Given the description of an element on the screen output the (x, y) to click on. 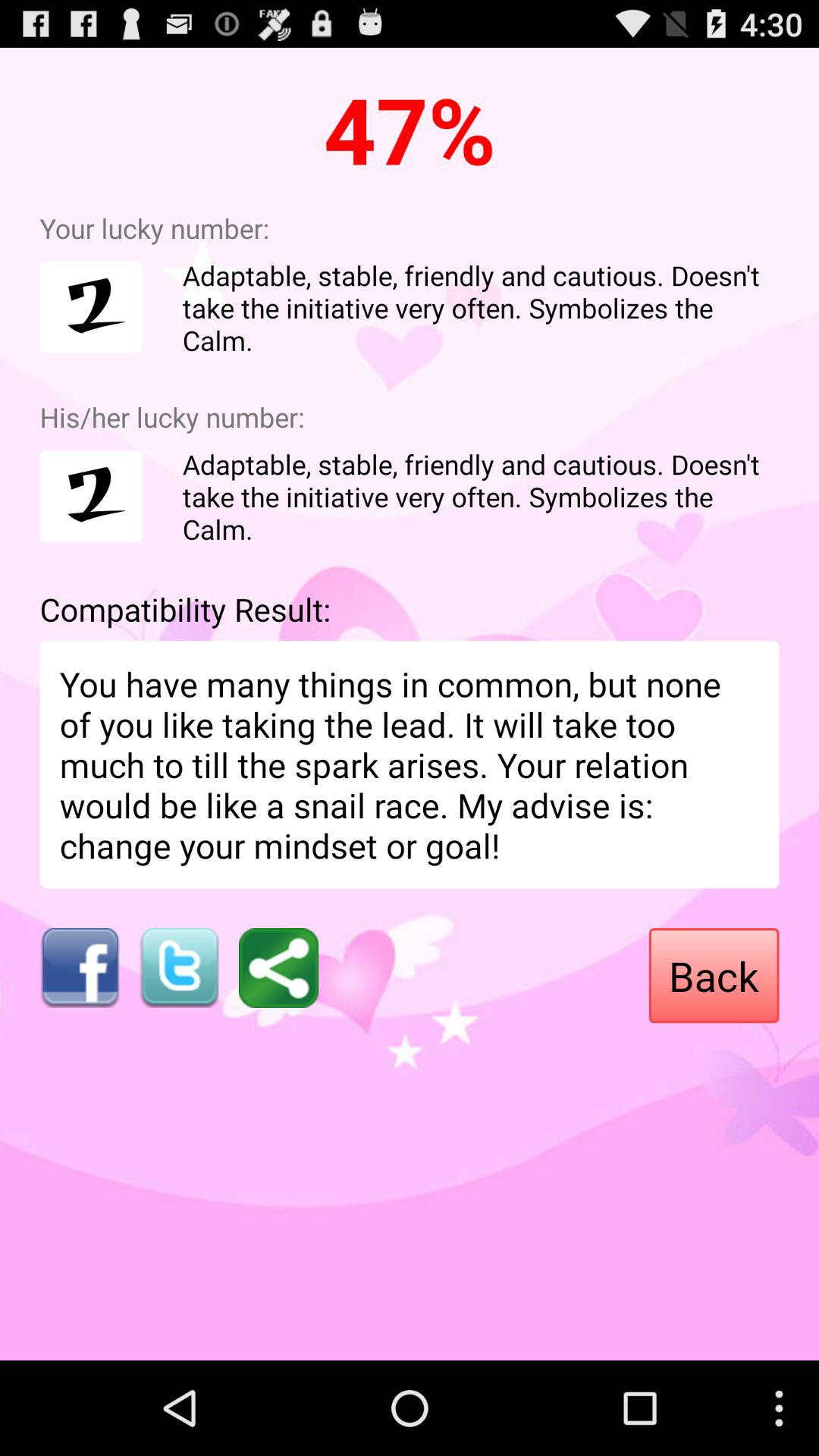
choose the back button (713, 975)
